Given the description of an element on the screen output the (x, y) to click on. 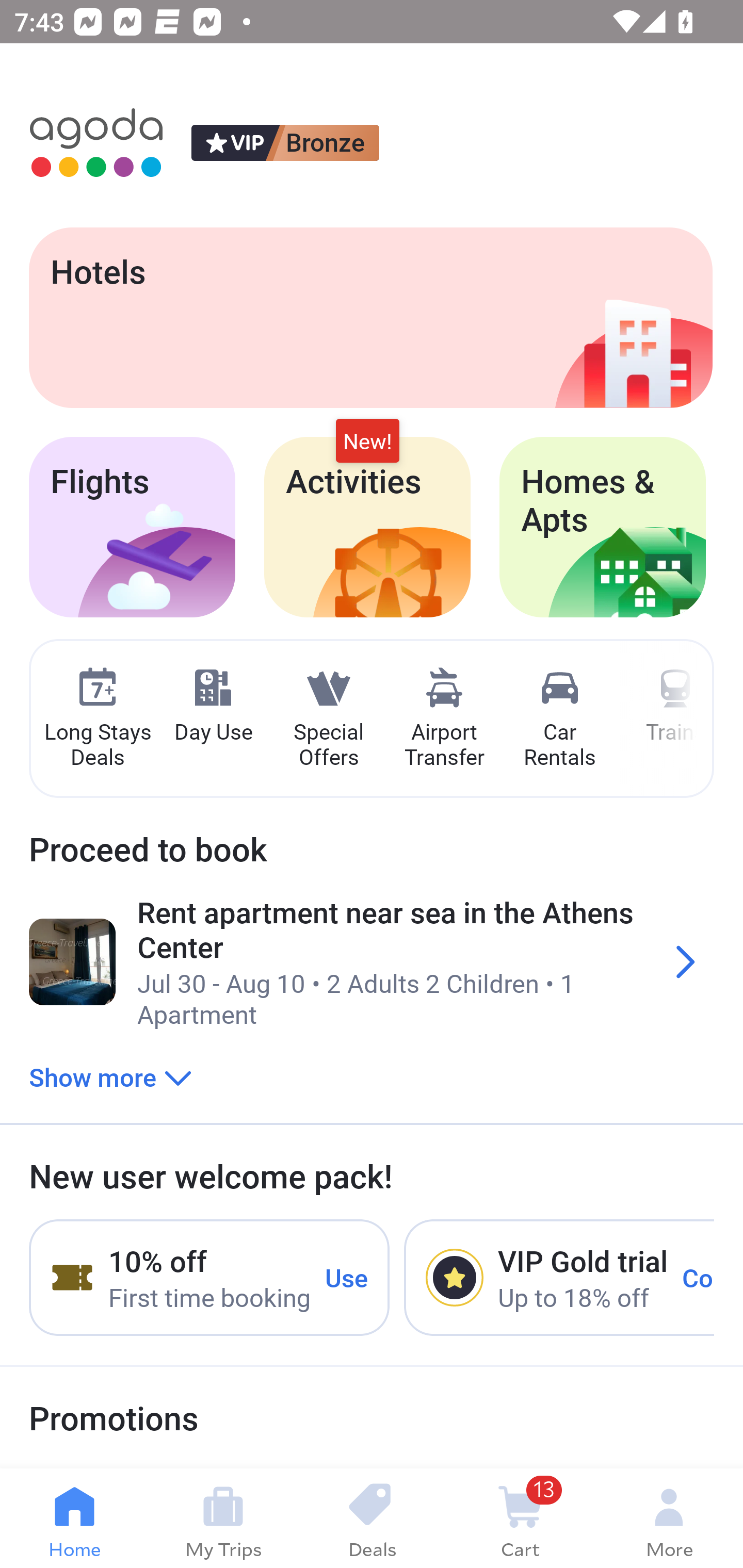
Hotels (370, 317)
New! (367, 441)
Flights (131, 527)
Activities (367, 527)
Homes & Apts (602, 527)
Day Use (213, 706)
Long Stays Deals (97, 718)
Special Offers (328, 718)
Airport Transfer (444, 718)
Car Rentals (559, 718)
Show more (110, 1076)
Use (346, 1277)
Home (74, 1518)
My Trips (222, 1518)
Deals (371, 1518)
13 Cart (519, 1518)
More (668, 1518)
